Given the description of an element on the screen output the (x, y) to click on. 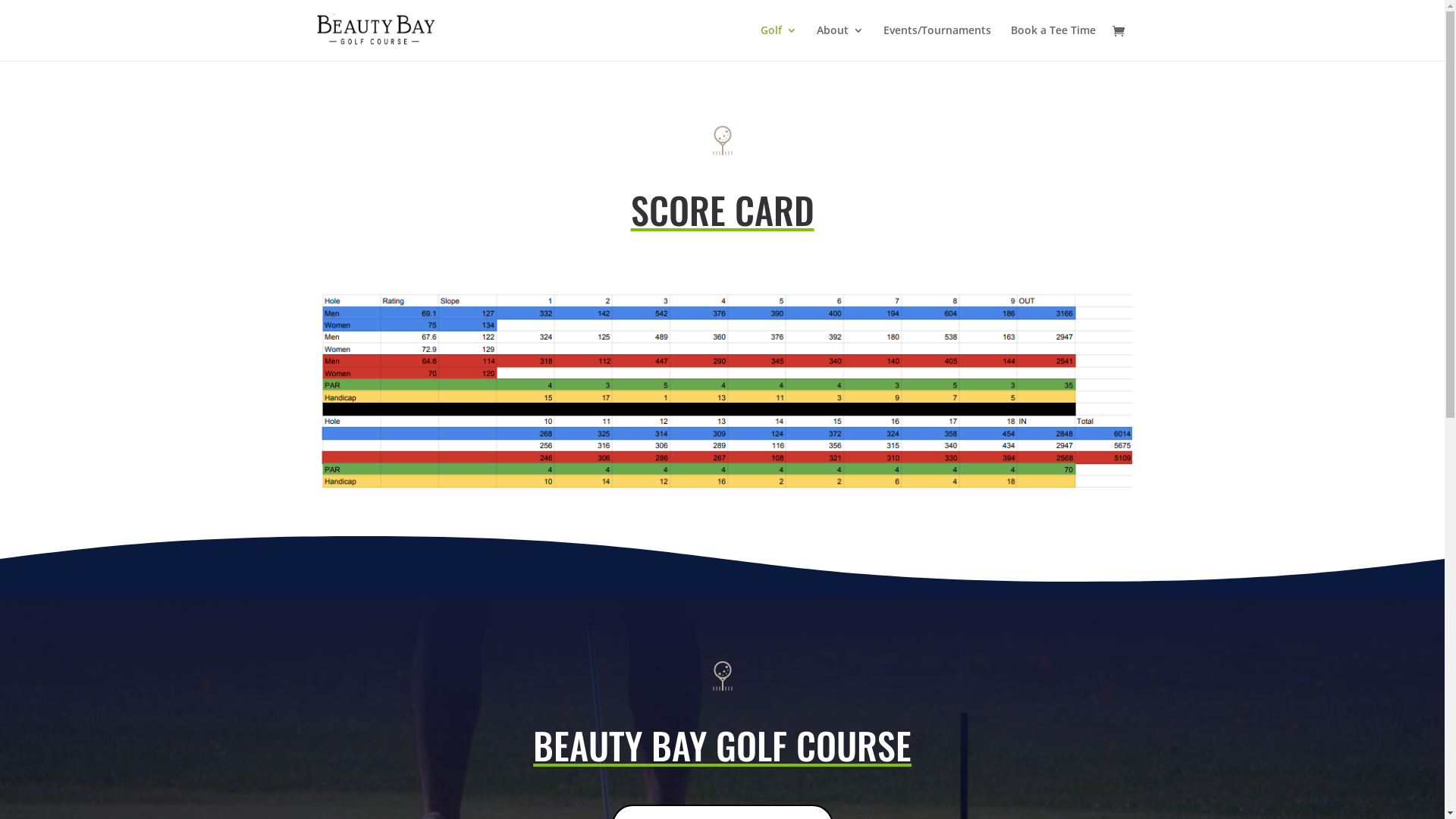
About Element type: text (838, 42)
Screen Shot 2021-04-28 at 11.00.46 PM Element type: hover (721, 388)
Golf Element type: text (777, 42)
Book a Tee Time Element type: text (1052, 42)
Events/Tournaments Element type: text (936, 42)
